Given the description of an element on the screen output the (x, y) to click on. 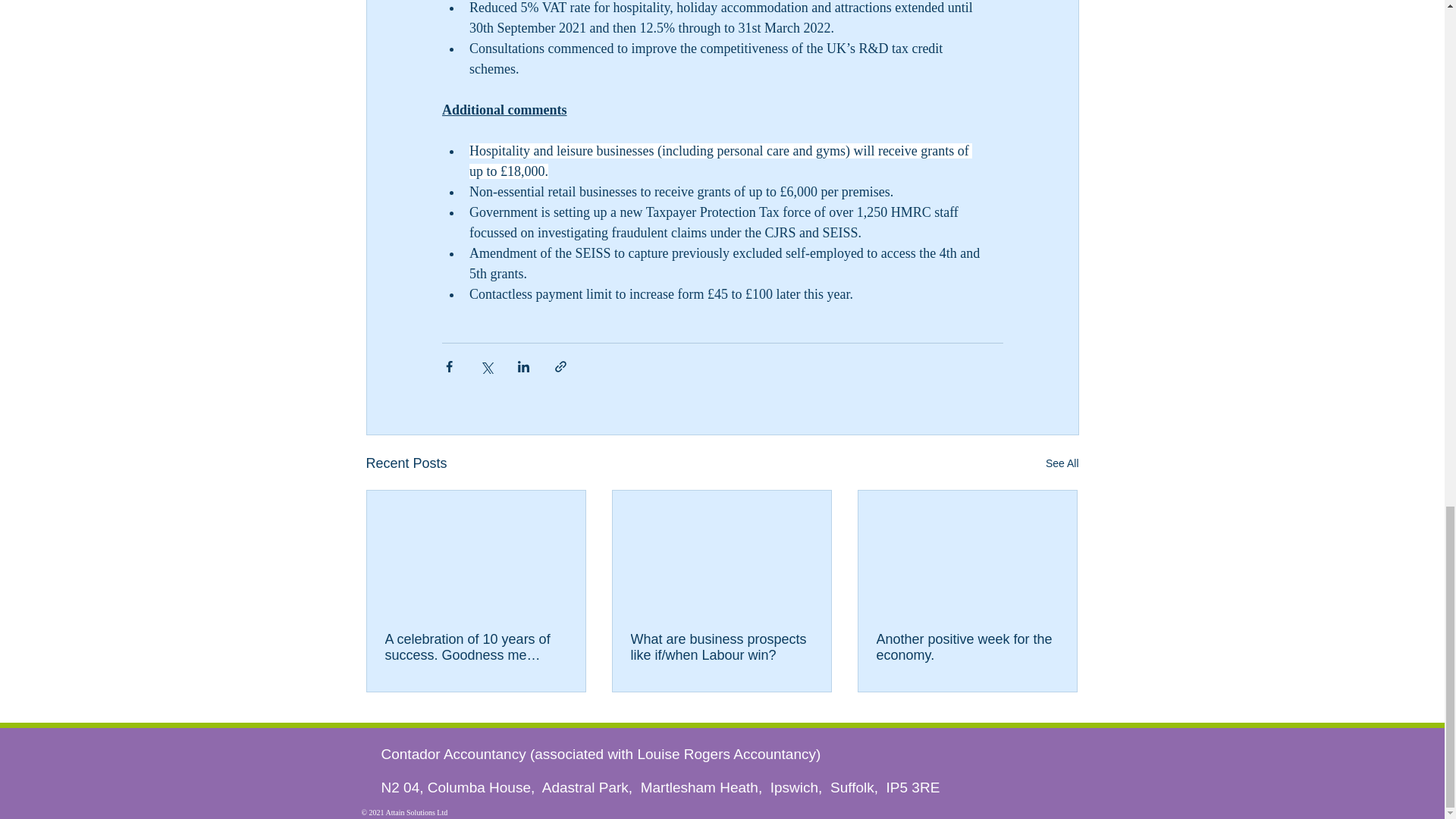
See All (1061, 463)
Another positive week for the economy. (967, 647)
